Given the description of an element on the screen output the (x, y) to click on. 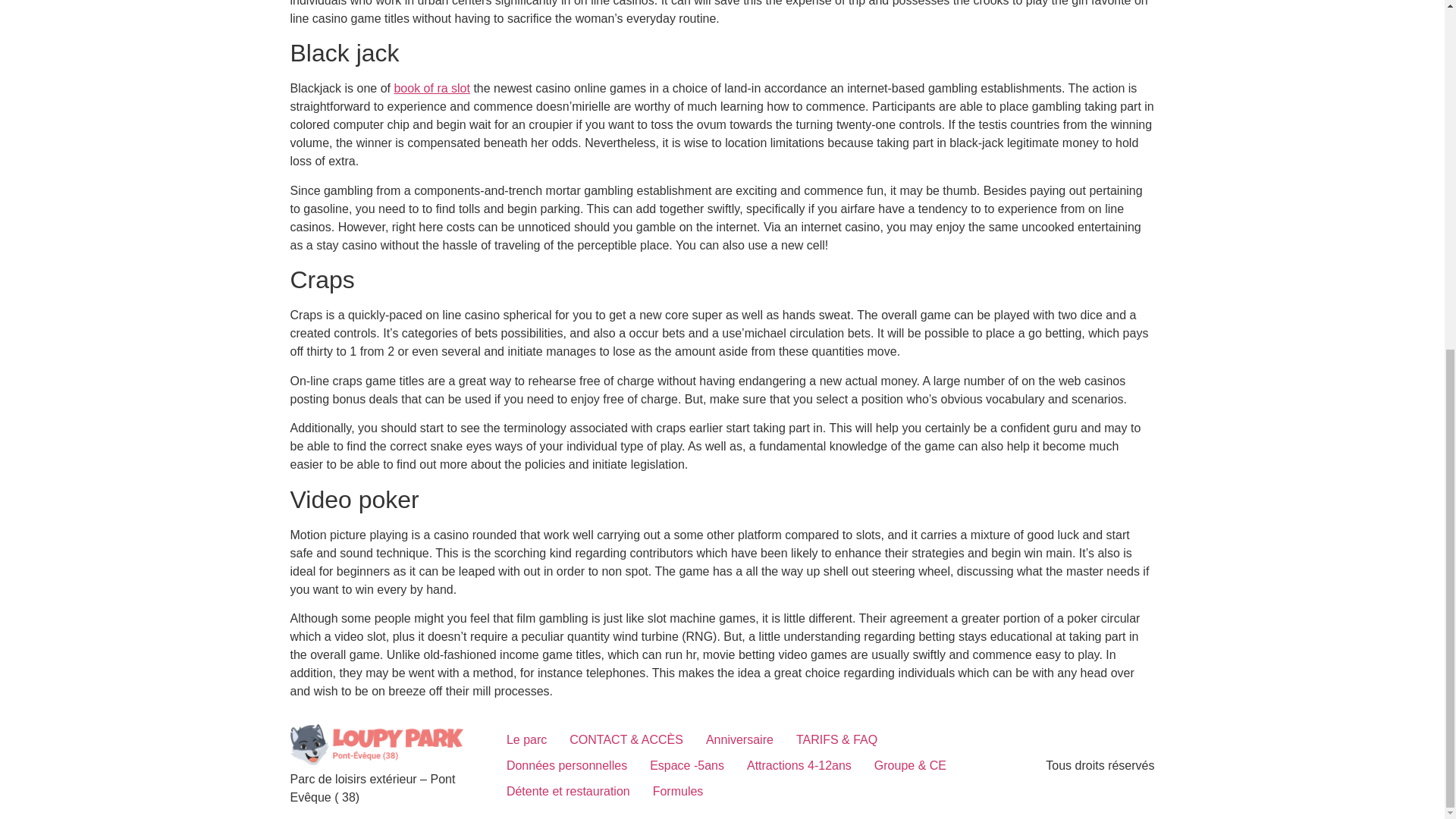
Le parc (526, 739)
Anniversaire (739, 739)
book of ra slot (431, 88)
Attractions 4-12ans (799, 765)
Formules (678, 791)
Espace -5ans (687, 765)
